Given the description of an element on the screen output the (x, y) to click on. 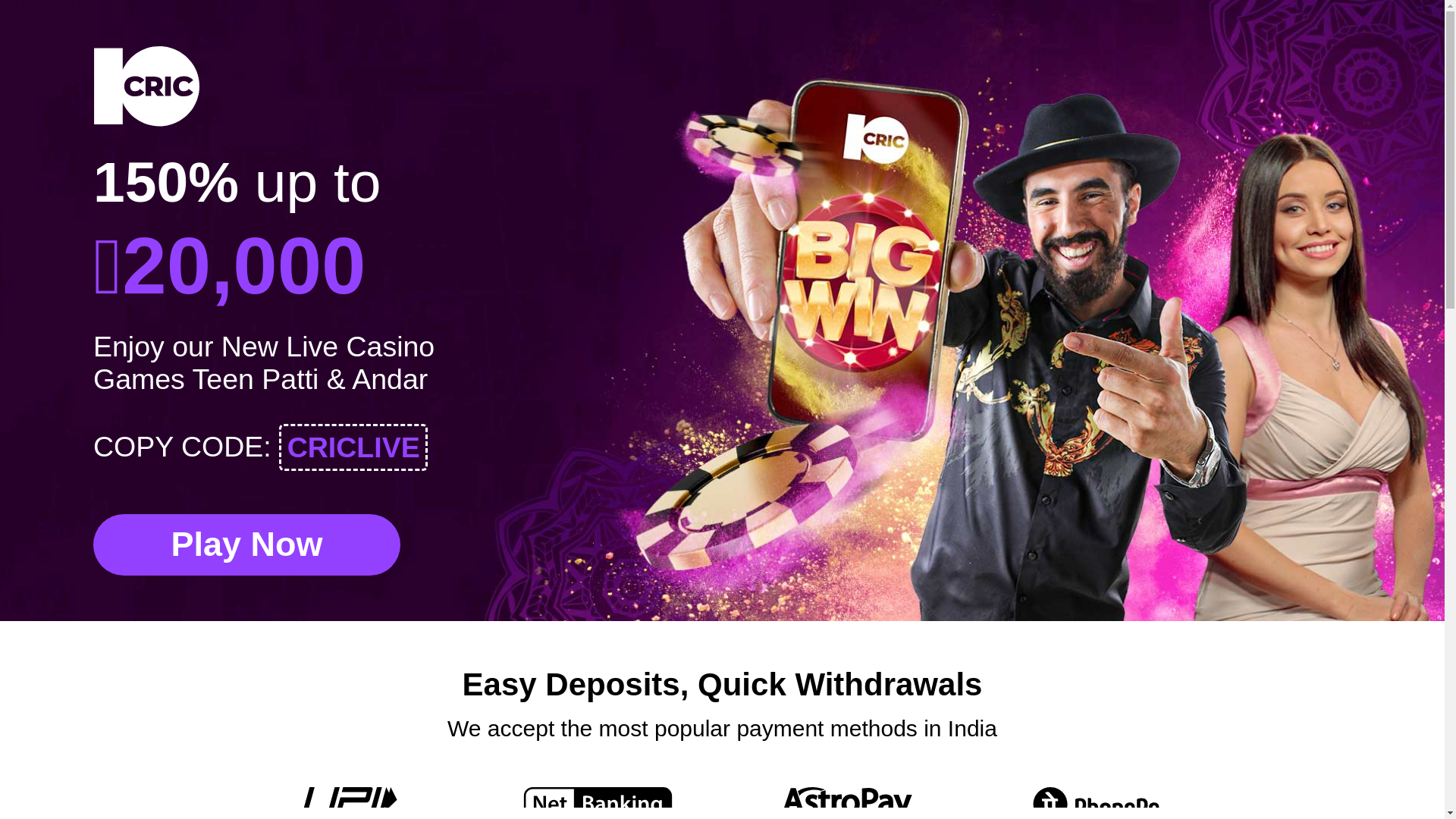
Play Now Element type: text (246, 544)
